Given the description of an element on the screen output the (x, y) to click on. 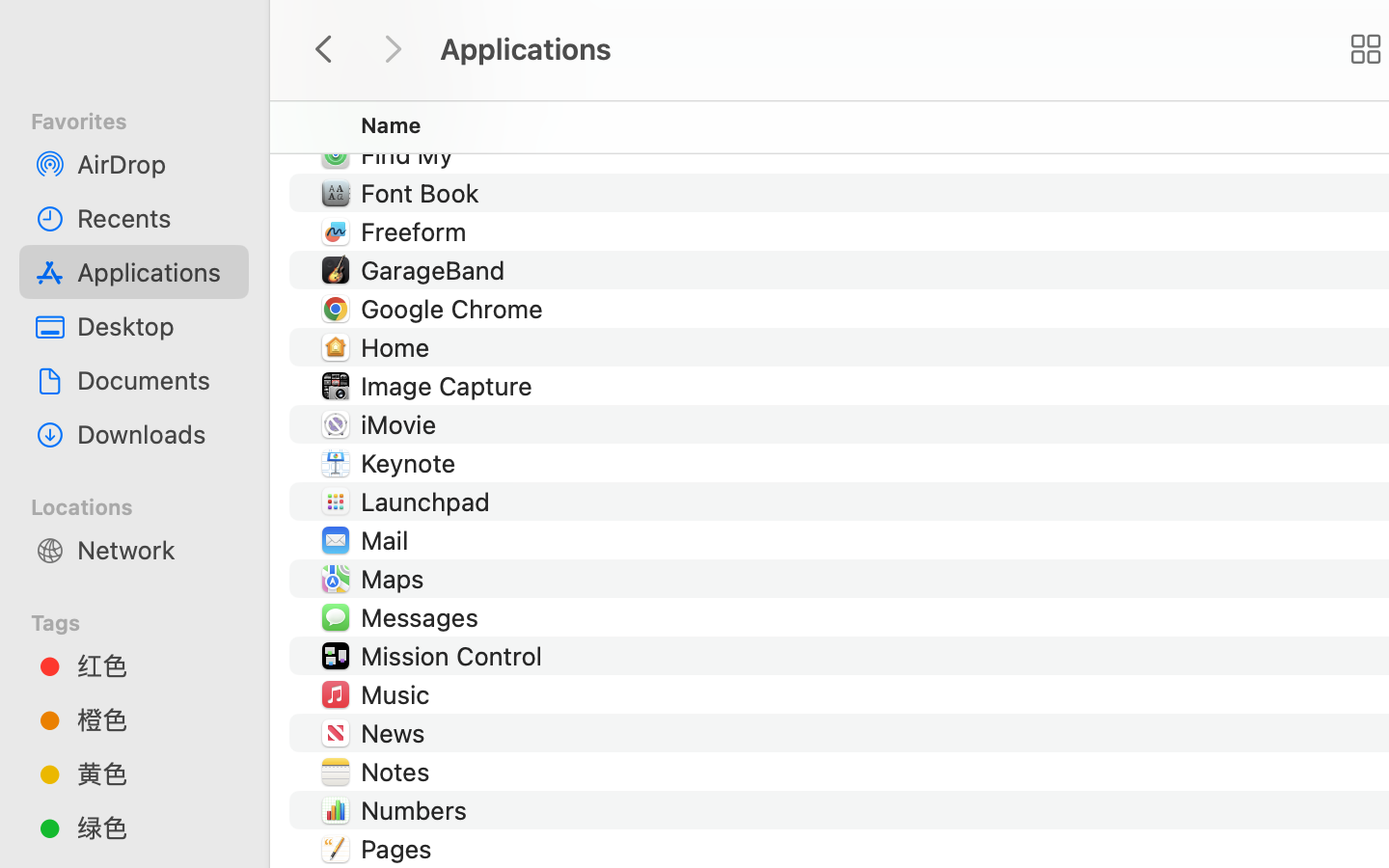
Desktop Element type: AXStaticText (155, 325)
AirDrop Element type: AXStaticText (155, 163)
Font Book Element type: AXTextField (423, 192)
Mission Control Element type: AXTextField (455, 655)
Keynote Element type: AXTextField (412, 462)
